Given the description of an element on the screen output the (x, y) to click on. 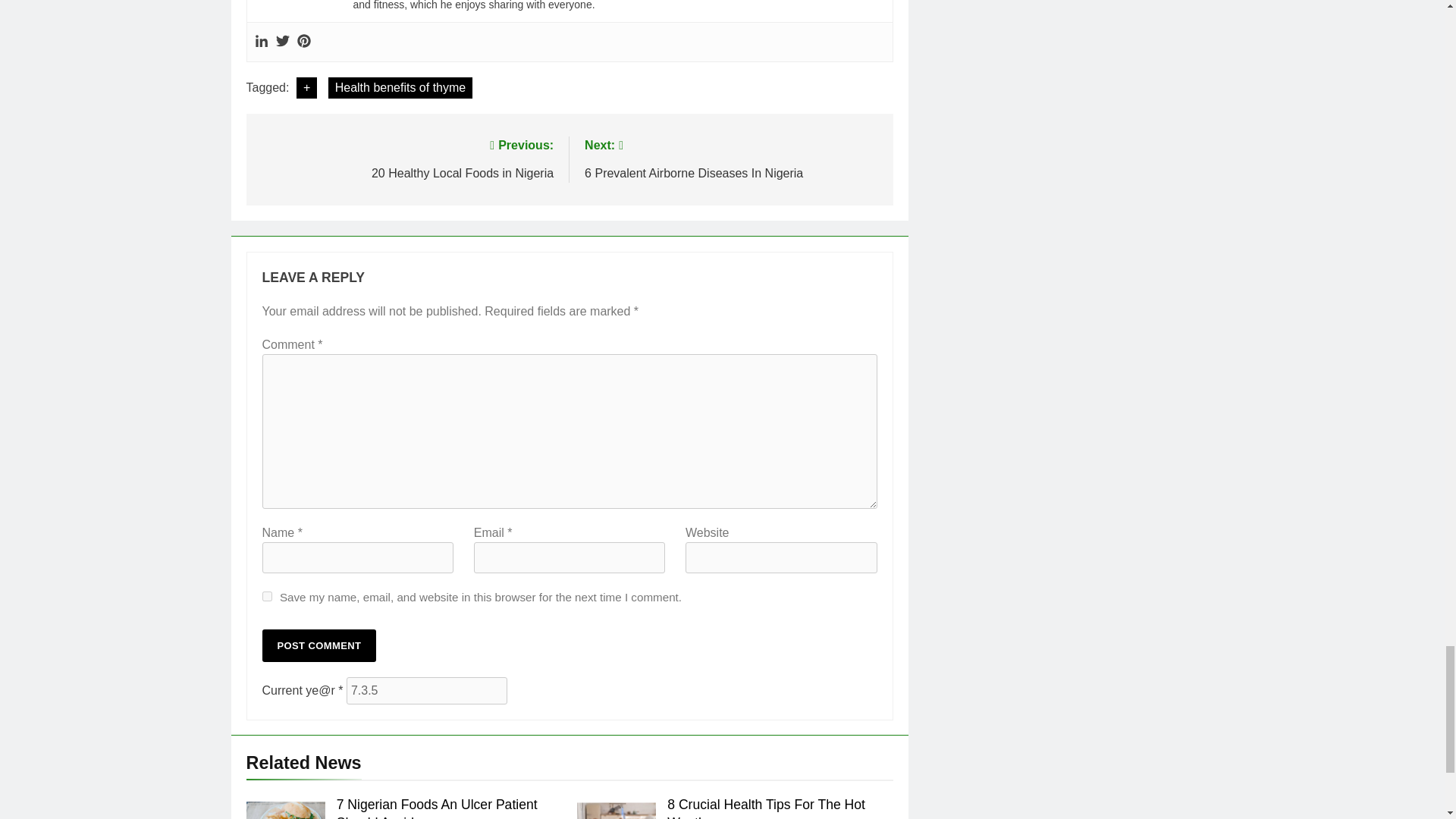
Post Comment (319, 645)
7.3.5 (426, 690)
yes (267, 596)
